Given the description of an element on the screen output the (x, y) to click on. 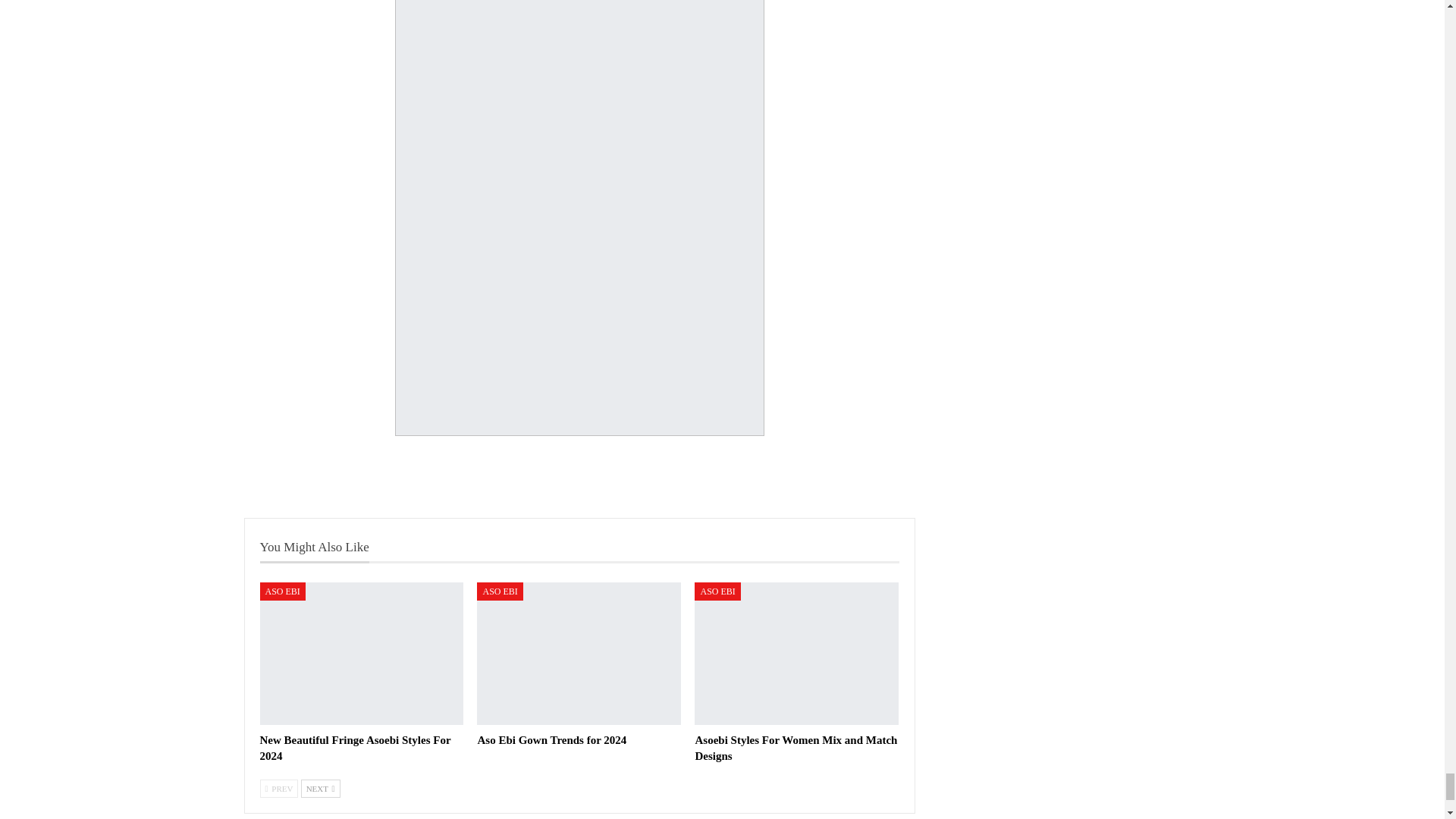
New Beautiful Fringe Asoebi Styles For 2024 (354, 747)
Asoebi Styles For Women Mix and Match Designs (795, 747)
You Might Also Like (313, 546)
New Beautiful Fringe Asoebi Styles For 2024 (361, 653)
Previous (278, 788)
Next (320, 788)
Aso Ebi Gown Trends for 2024 (551, 739)
Aso Ebi Gown Trends for 2024 (579, 653)
Asoebi Styles For Women Mix and Match Designs (796, 653)
ASO EBI (281, 591)
